Given the description of an element on the screen output the (x, y) to click on. 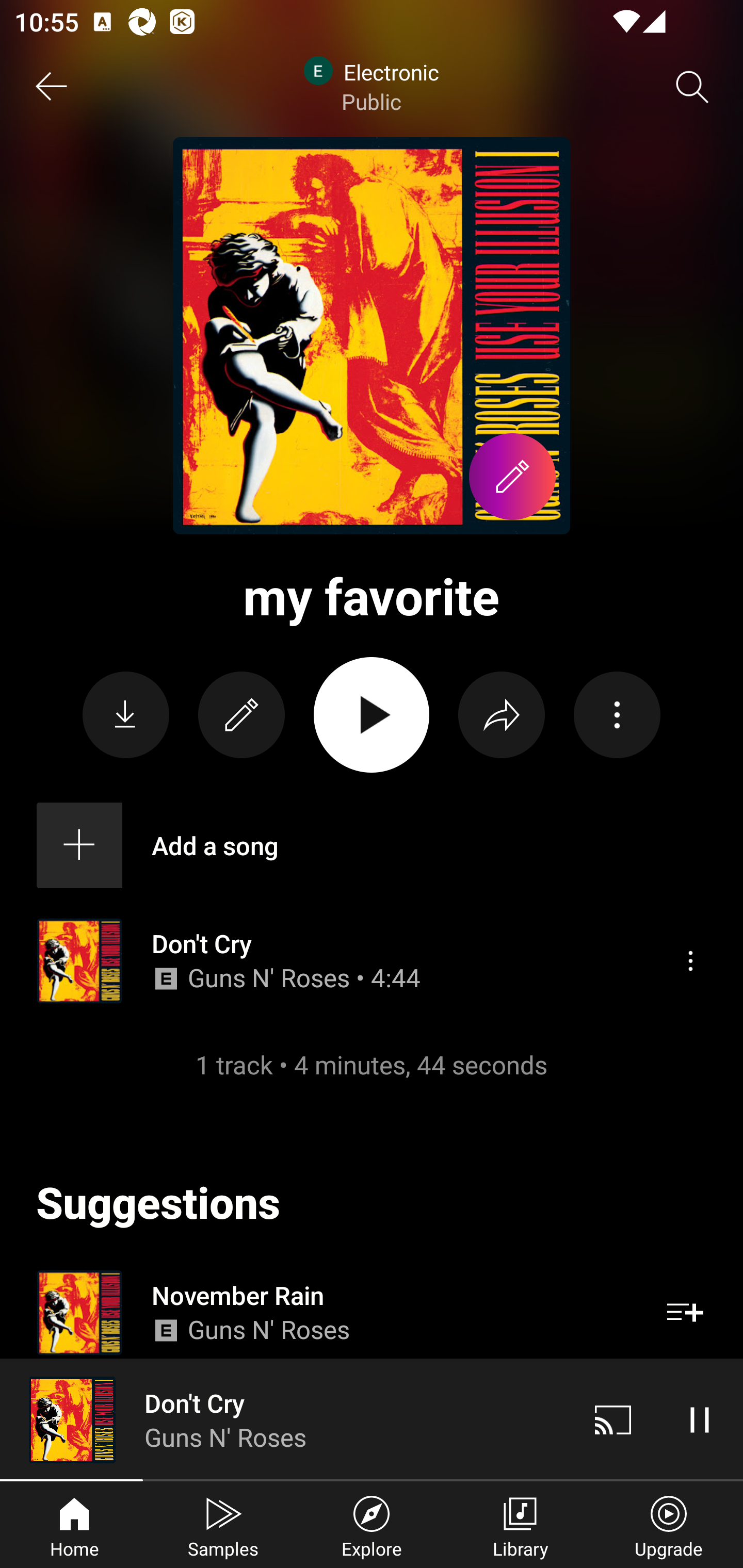
Back (50, 86)
Search (692, 86)
PLAY ALL (371, 714)
Download (125, 714)
Edit playlist (241, 714)
Share (501, 714)
Action menu (616, 714)
Menu (690, 961)
Save to playlist (684, 1313)
Don't Cry Guns N' Roses (284, 1419)
Cast. Disconnected (612, 1419)
Pause video (699, 1419)
Home (74, 1524)
Samples (222, 1524)
Explore (371, 1524)
Library (519, 1524)
Upgrade (668, 1524)
